Given the description of an element on the screen output the (x, y) to click on. 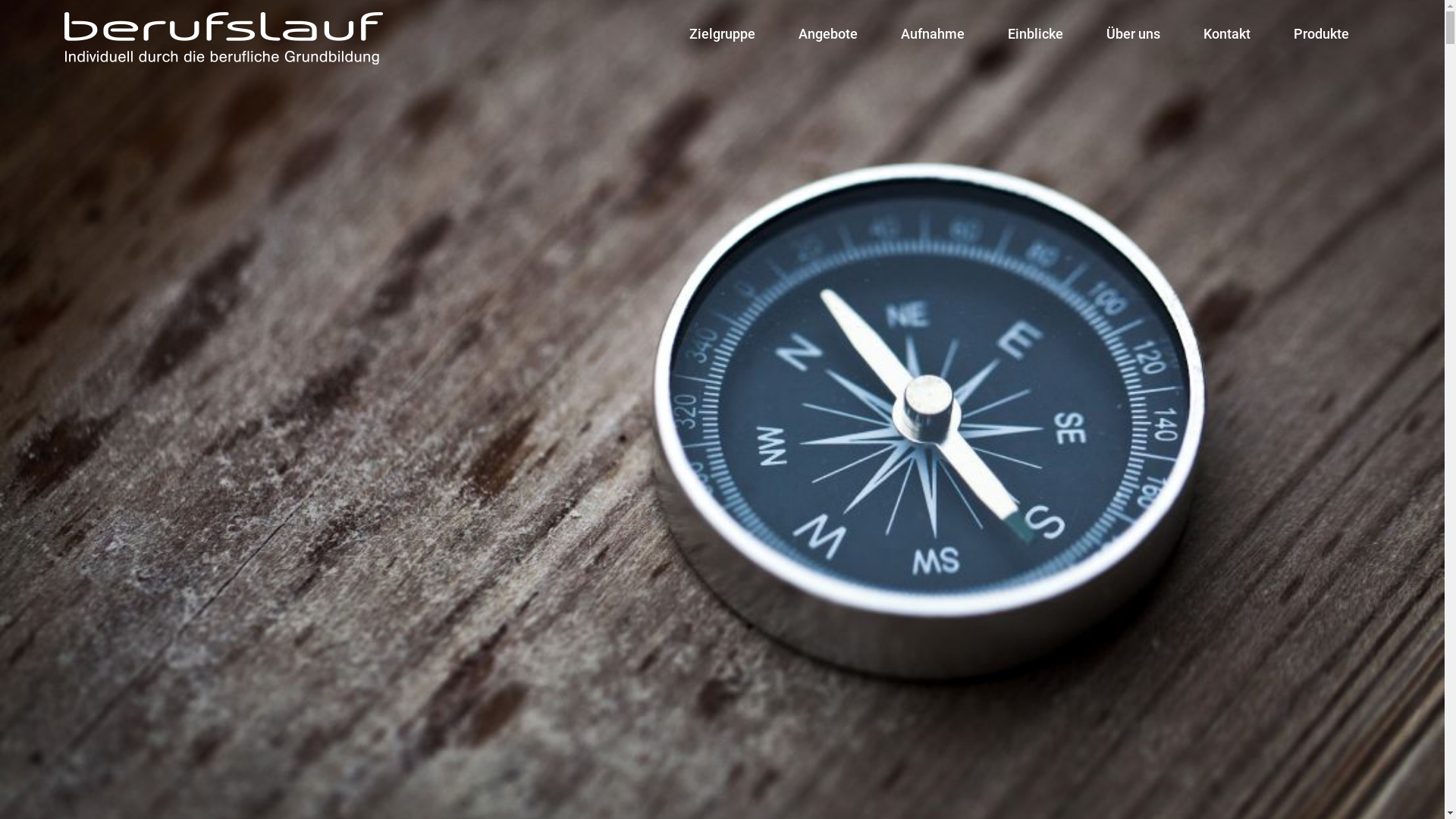
Produkte Element type: text (1321, 34)
Angebote Element type: text (827, 34)
Zielgruppe Element type: text (722, 34)
Kontakt Element type: text (1226, 34)
Aufnahme Element type: text (932, 34)
Einblicke Element type: text (1035, 34)
